Given the description of an element on the screen output the (x, y) to click on. 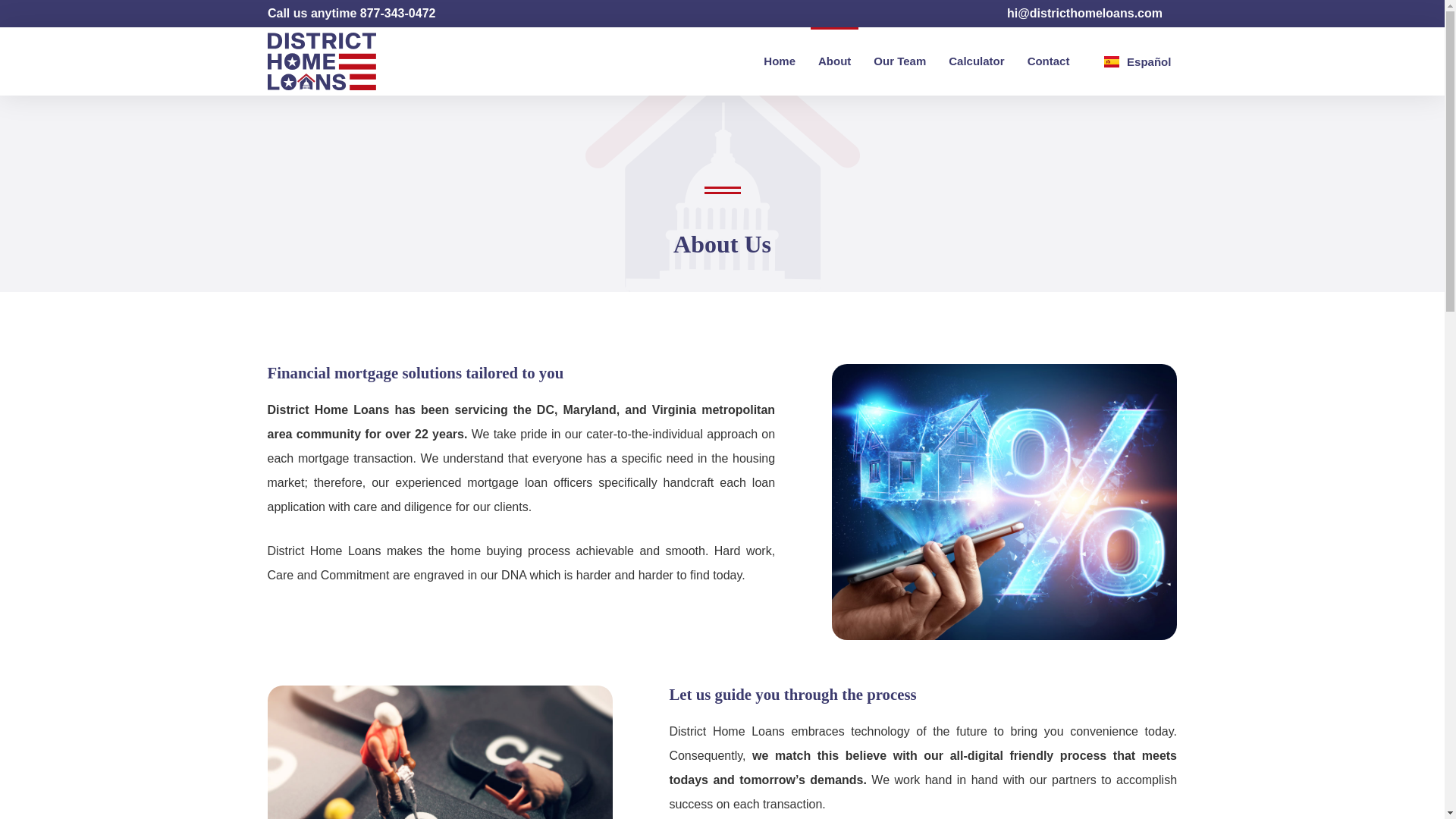
Calculator (975, 61)
Our Team (899, 61)
